Given the description of an element on the screen output the (x, y) to click on. 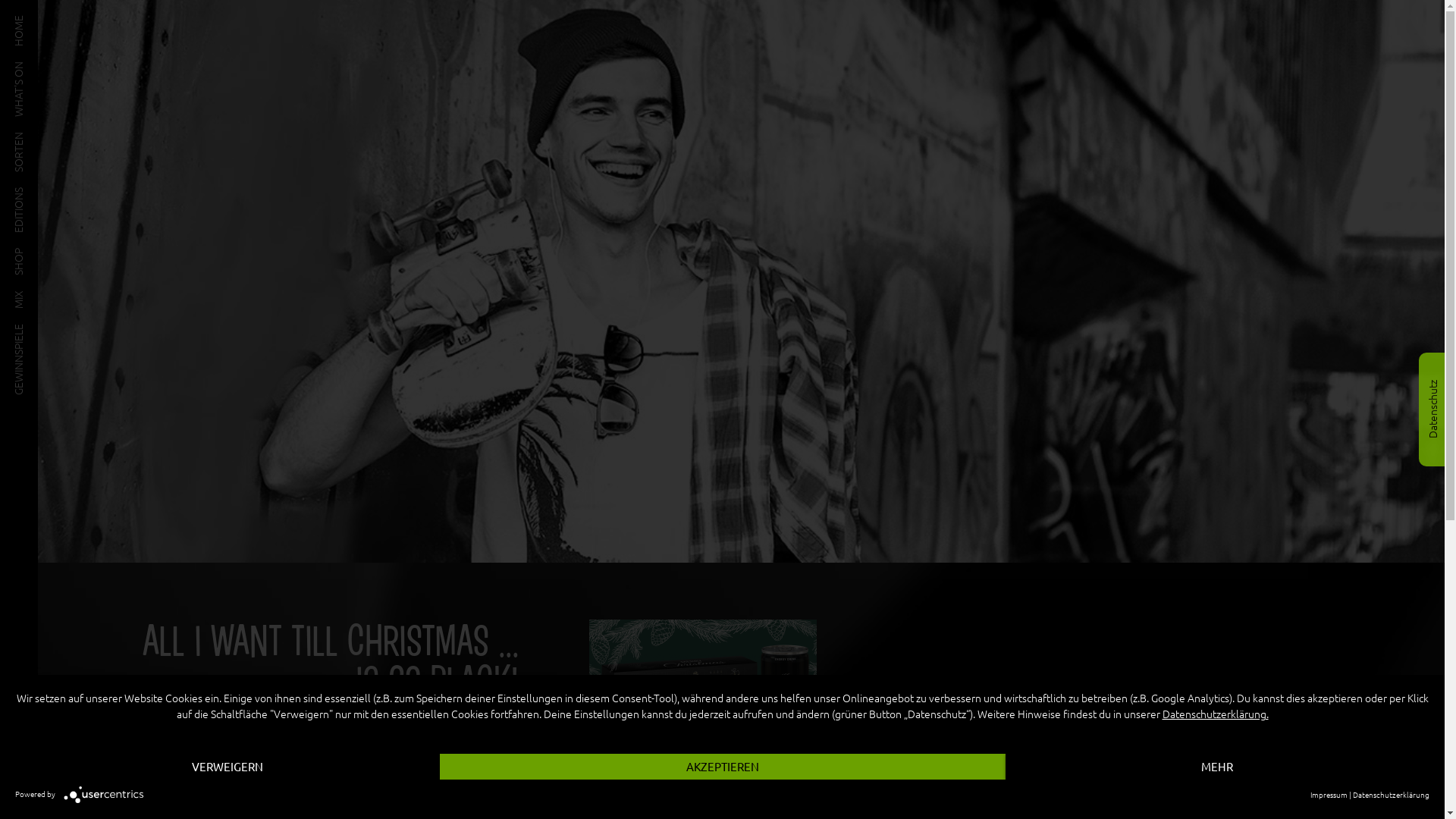
MIX Element type: text (22, 295)
SHOP Element type: text (26, 252)
28 BLACK - DER ENERGY DRINK Element type: hover (740, 281)
Impressum Element type: text (1328, 794)
icon-youtube.svg Element type: hover (18, 800)
WHAT'S ON Element type: text (41, 66)
GEWINNSPIELE Element type: text (48, 328)
HOME Element type: text (28, 20)
icon-instagram.svg Element type: hover (18, 757)
MEHR Element type: text (1217, 766)
icon-facebook.svg Element type: hover (18, 778)
AKZEPTIEREN Element type: text (722, 766)
VERWEIGERN Element type: text (227, 766)
SORTEN Element type: text (33, 136)
EDITIONS Element type: text (36, 192)
